Given the description of an element on the screen output the (x, y) to click on. 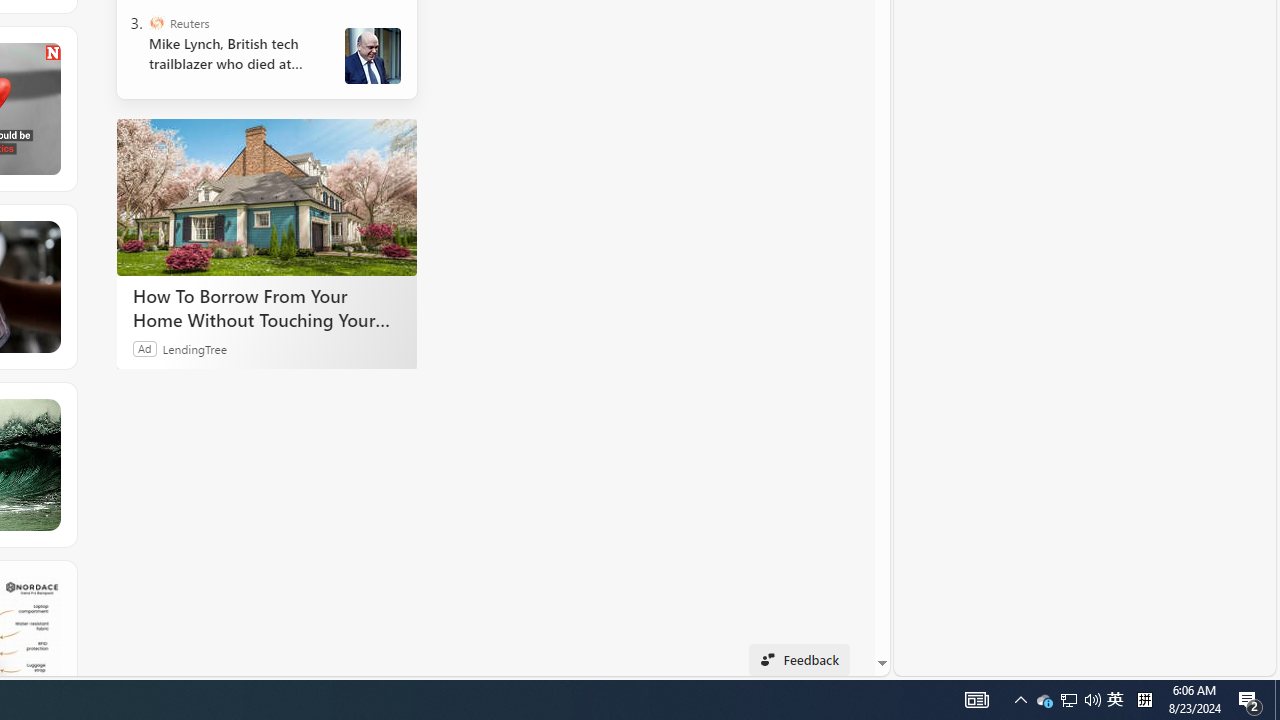
These Cities Are About to Run Out of Clean Drinking Water (136, 286)
Reuters (156, 22)
